Given the description of an element on the screen output the (x, y) to click on. 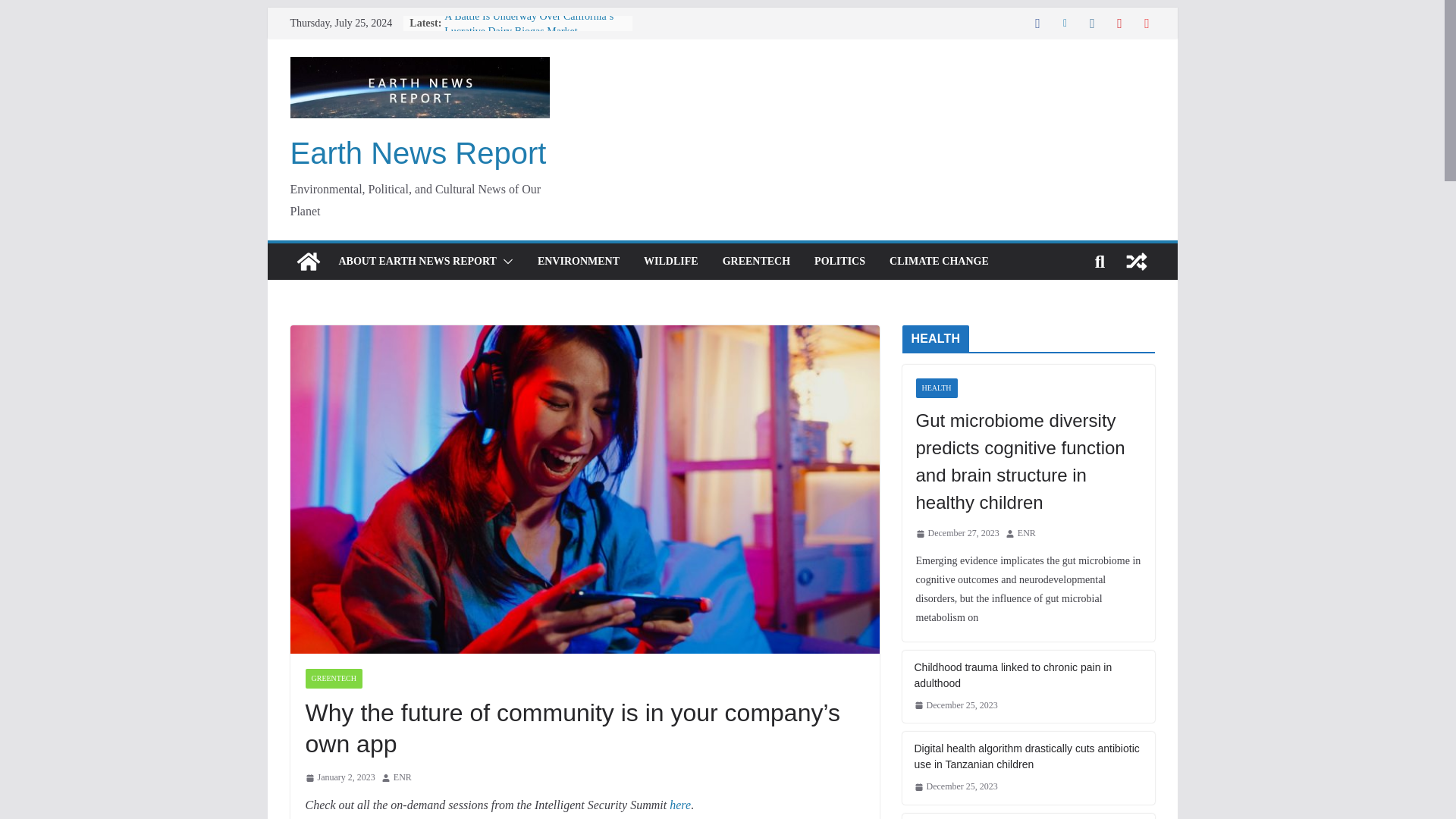
ENR (402, 777)
Earth News Report (417, 152)
ENVIRONMENT (578, 260)
WILDLIFE (670, 260)
January 2, 2023 (339, 777)
Earth News Report (417, 152)
POLITICS (838, 260)
CLIMATE CHANGE (938, 260)
Earth News Report (307, 261)
ENR (402, 777)
ABOUT EARTH NEWS REPORT (416, 260)
4:12 am (339, 777)
GREENTECH (756, 260)
View a random post (1136, 261)
